Given the description of an element on the screen output the (x, y) to click on. 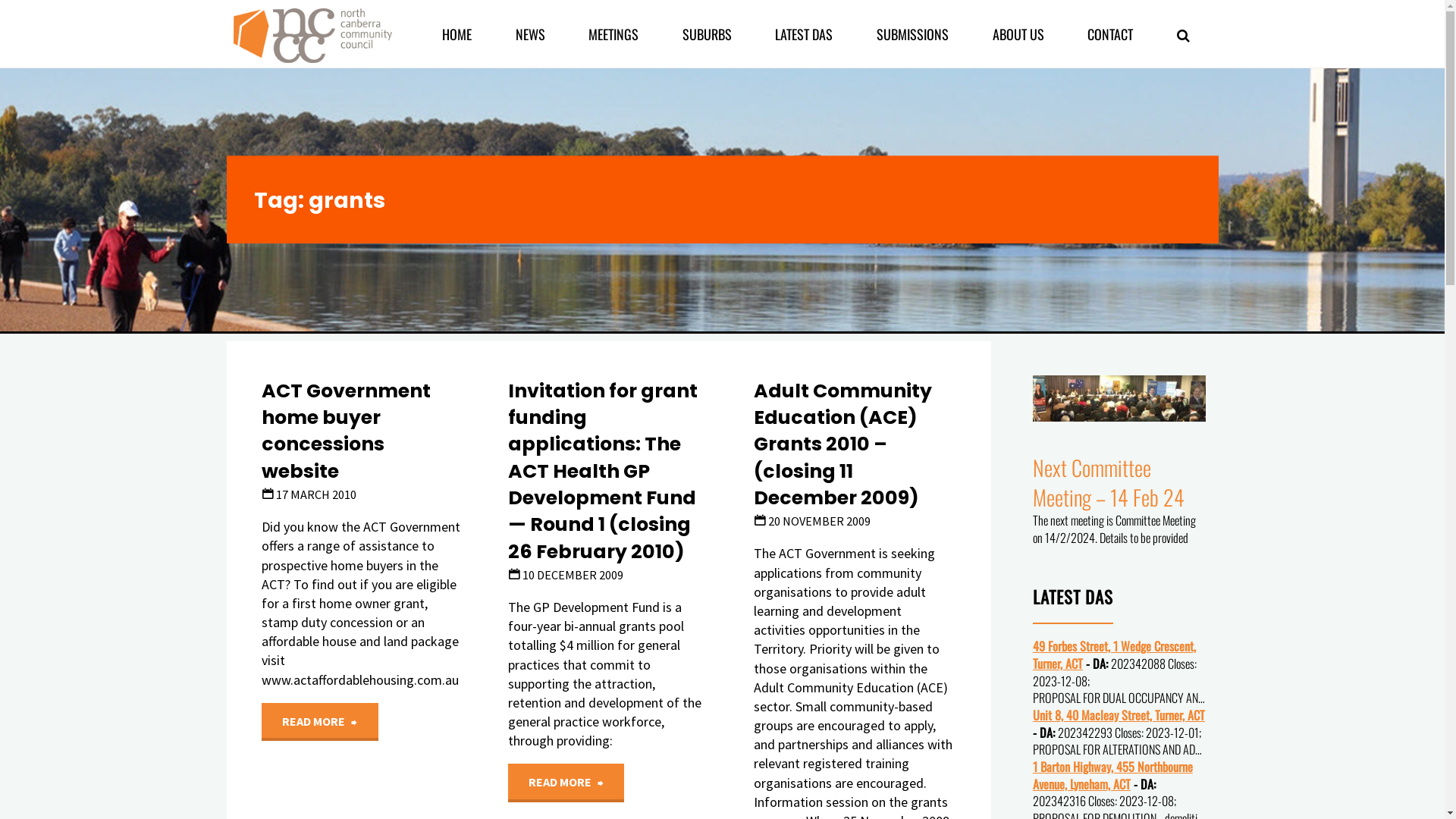
1 Barton Highway, 455 Northbourne Avenue, Lyneham, ACT Element type: text (1112, 775)
Date Element type: hover (514, 574)
LATEST DAS Element type: text (804, 34)
HOME Element type: text (456, 34)
Date Element type: hover (759, 520)
ABOUT US Element type: text (1018, 34)
SUBMISSIONS Element type: text (912, 34)
North Canberra Community Council Element type: hover (312, 33)
Date Element type: hover (267, 494)
Unit 8, 40 Macleay Street, Turner, ACT Element type: text (1118, 715)
SUBURBS Element type: text (706, 34)
49 Forbes Street, 1 Wedge Crescent, Turner, ACT Element type: text (1113, 654)
MEETINGS Element type: text (613, 34)
ACT Government home buyer concessions website Element type: text (345, 431)
READ MORE
"ACT Government home buyer concessions website" Element type: text (319, 721)
CONTACT Element type: text (1109, 34)
NEWS Element type: text (530, 34)
